Given the description of an element on the screen output the (x, y) to click on. 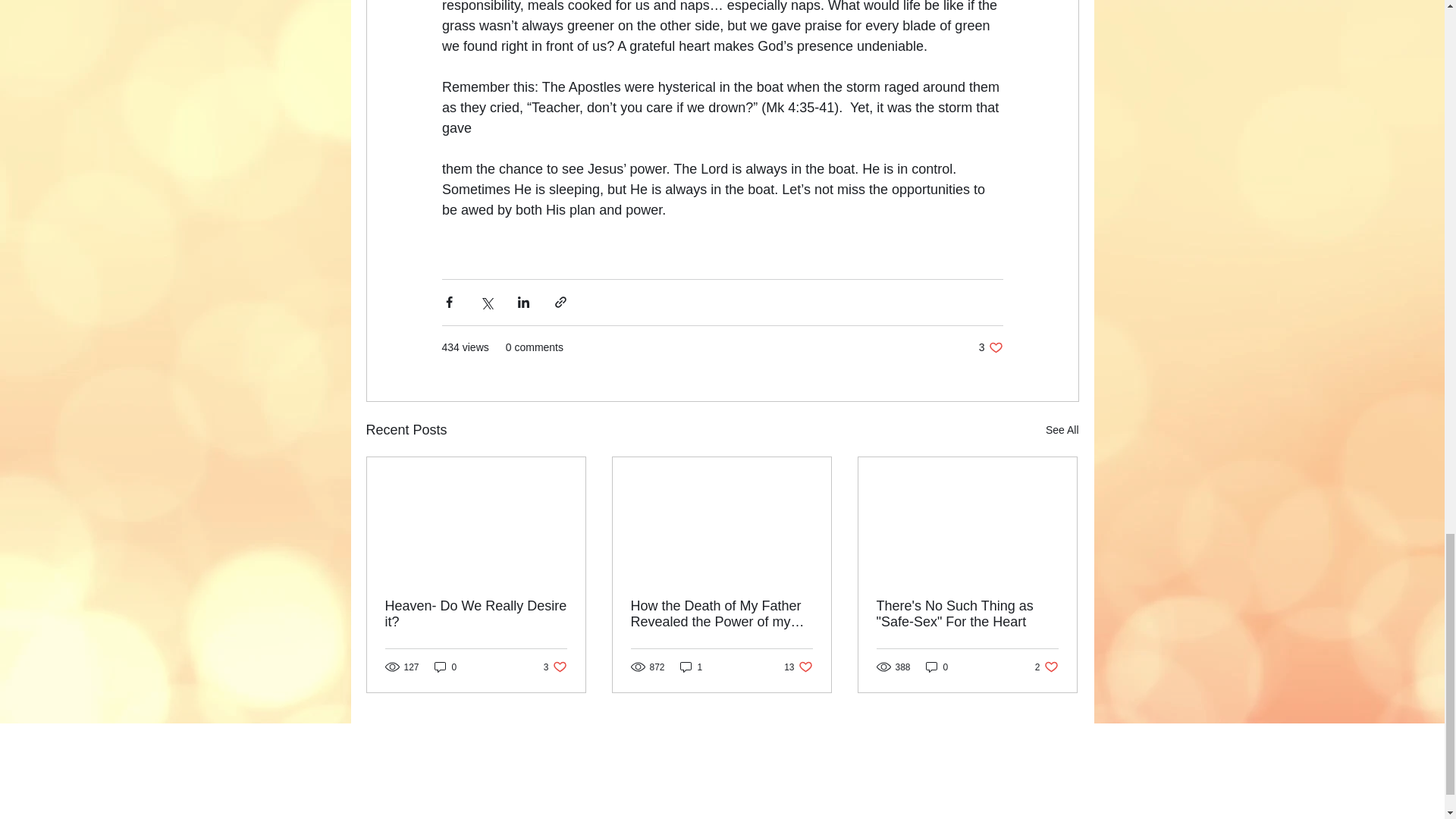
1 (691, 667)
0 (937, 667)
0 (445, 667)
There's No Such Thing as "Safe-Sex" For the Heart (967, 613)
Heaven- Do We Really Desire it? (1046, 667)
See All (476, 613)
